Given the description of an element on the screen output the (x, y) to click on. 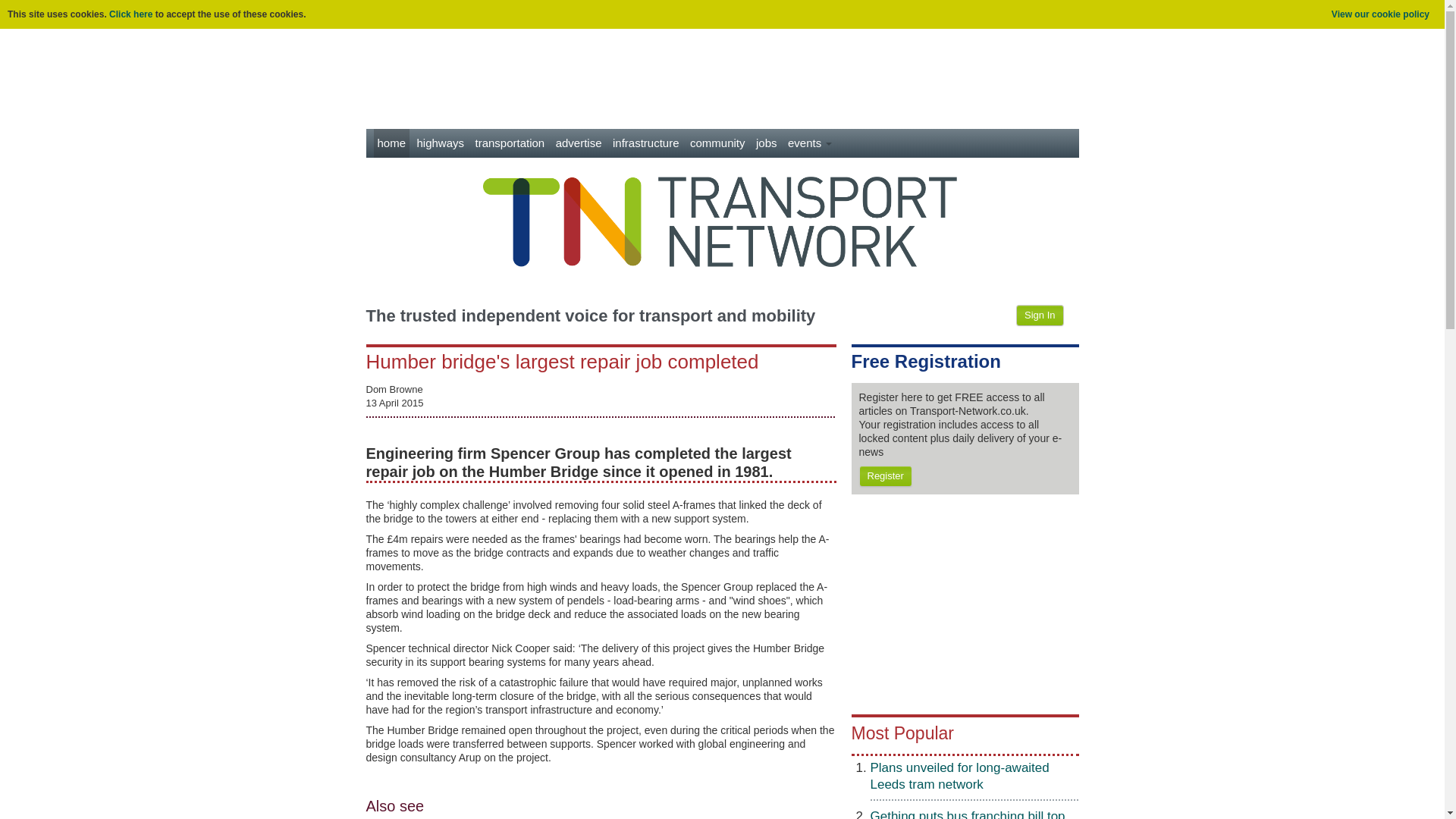
highways (439, 142)
home (390, 142)
infrastructure (645, 142)
Register (885, 476)
Sign In (1039, 315)
transportation (509, 142)
advertise (578, 142)
Gething puts bus franching bill top of the agenda (967, 814)
jobs (766, 142)
Click here (130, 14)
events (809, 142)
community (717, 142)
Plans unveiled for long-awaited Leeds tram network (959, 775)
